Given the description of an element on the screen output the (x, y) to click on. 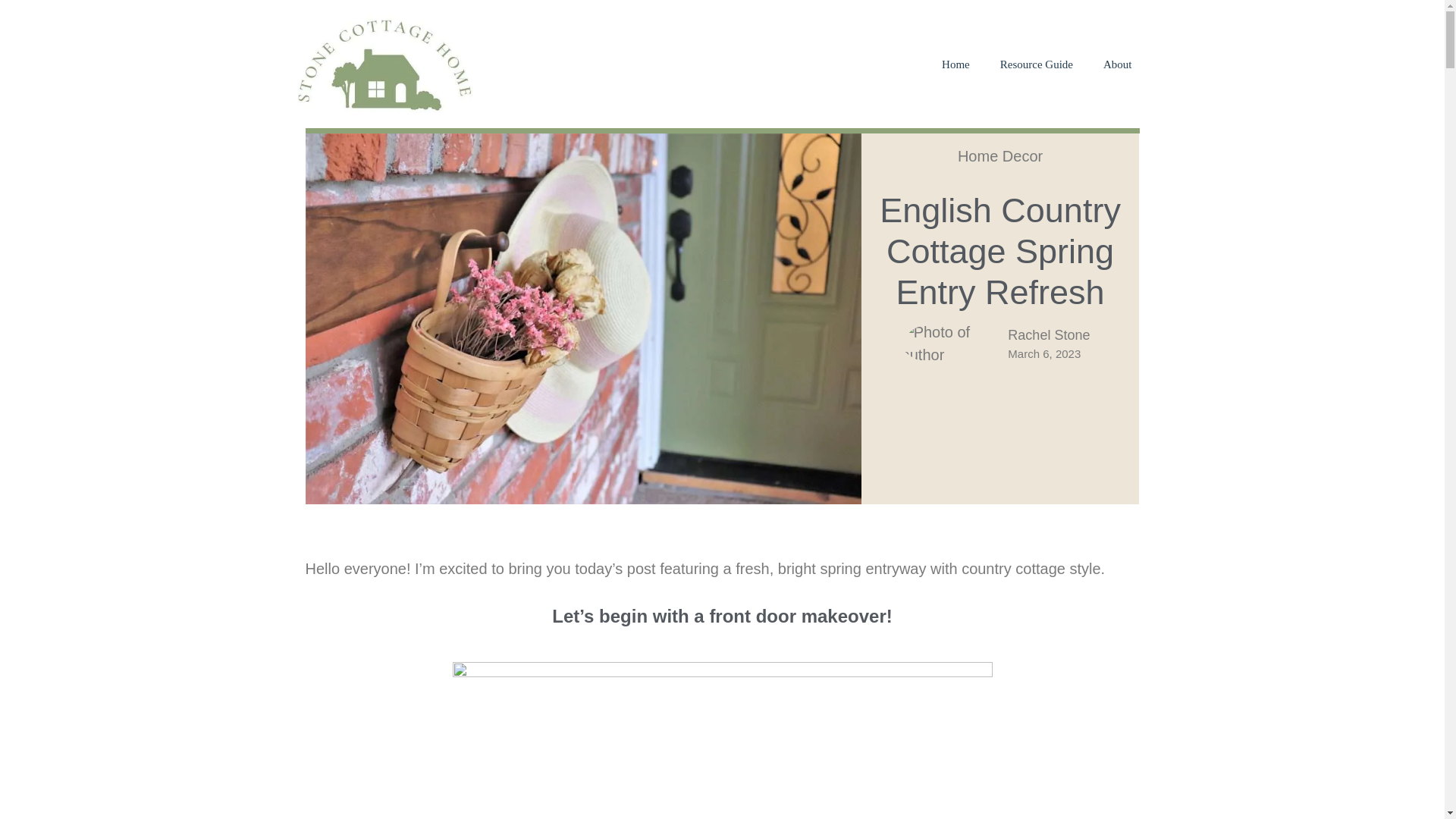
Rachel Stone (1048, 335)
About (1117, 63)
Resource Guide (1036, 63)
Home (955, 63)
Home Decor (1000, 156)
